Given the description of an element on the screen output the (x, y) to click on. 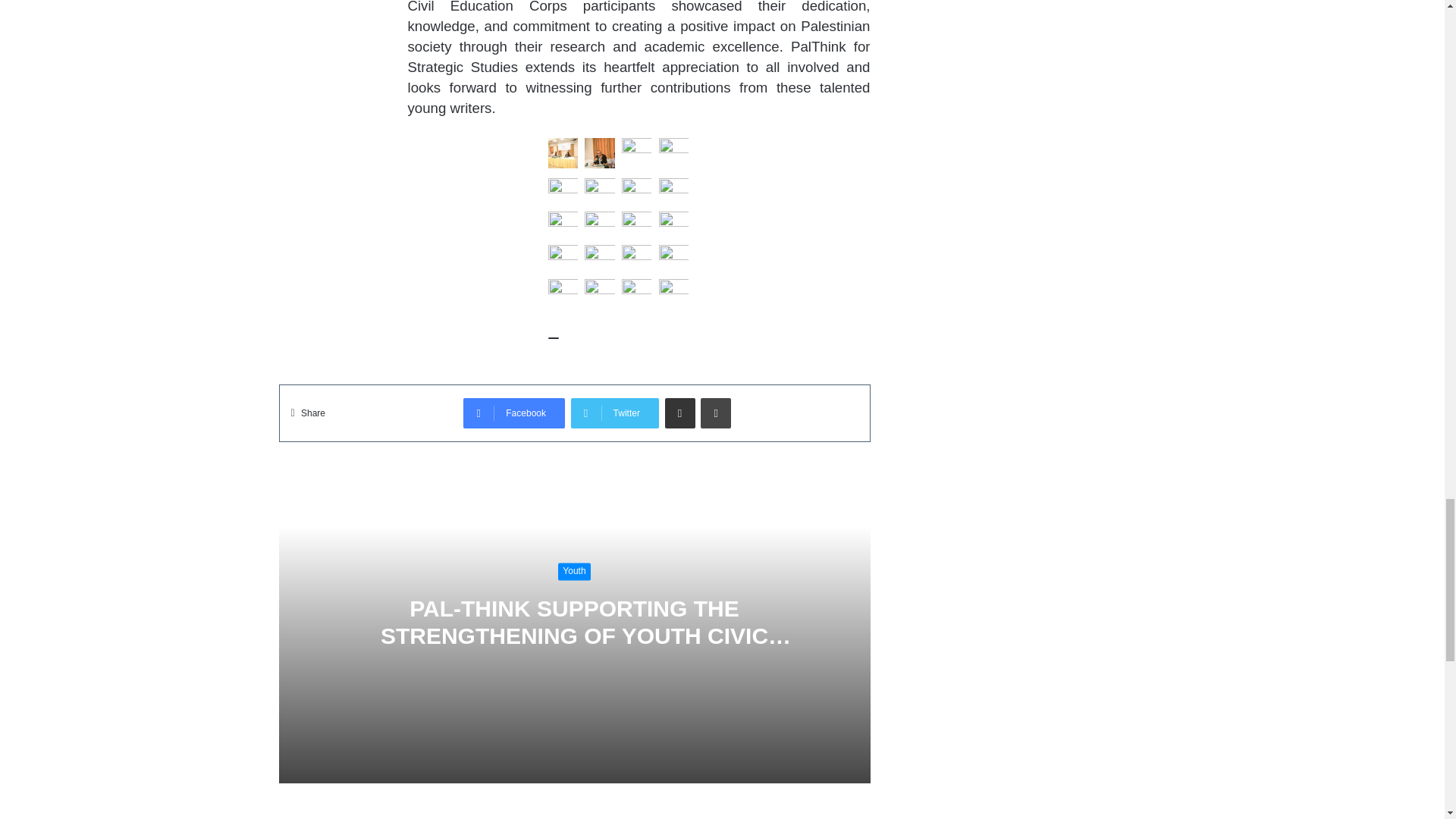
Facebook (513, 413)
